Given the description of an element on the screen output the (x, y) to click on. 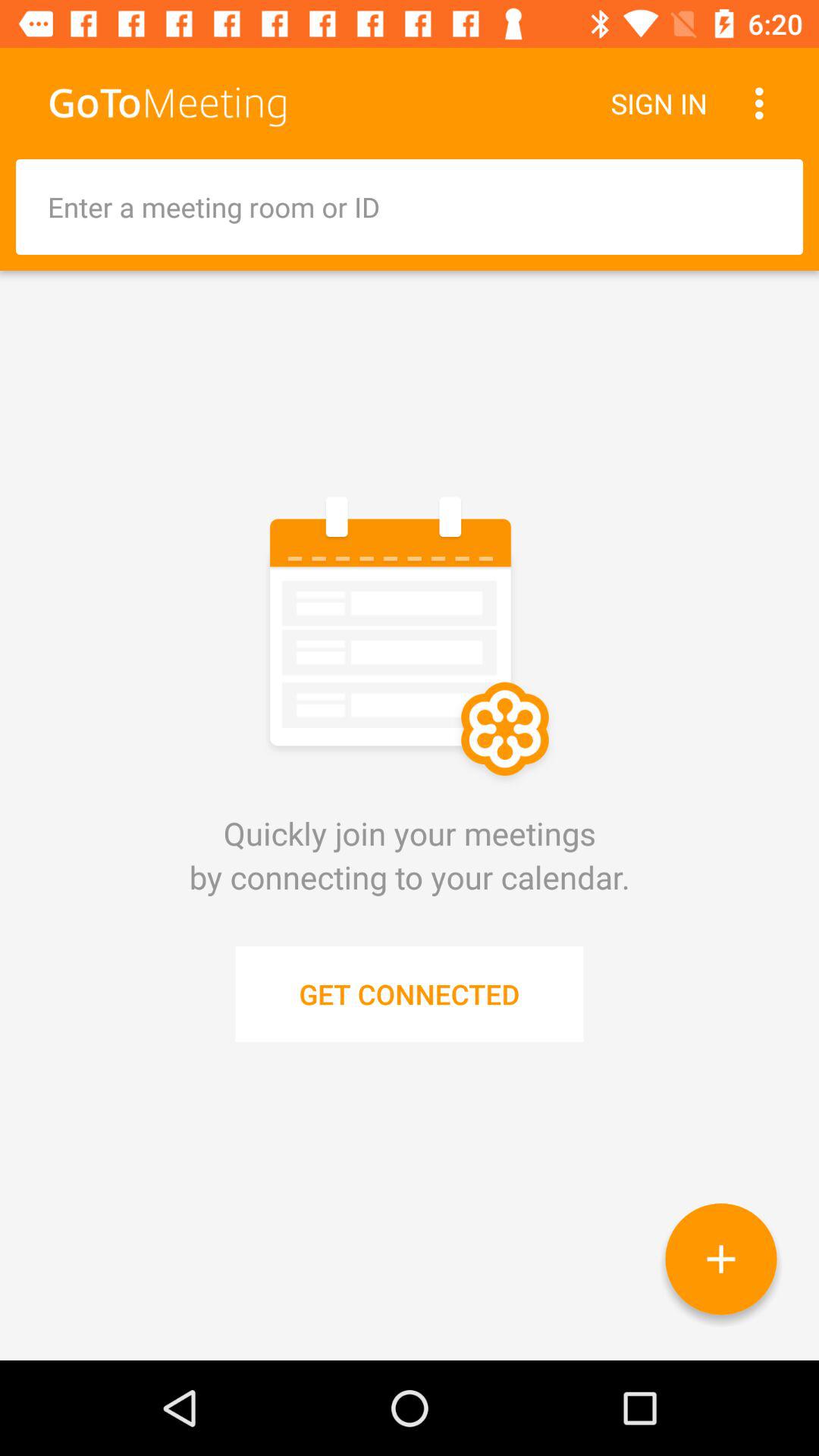
press the item above the quickly join your icon (409, 206)
